Given the description of an element on the screen output the (x, y) to click on. 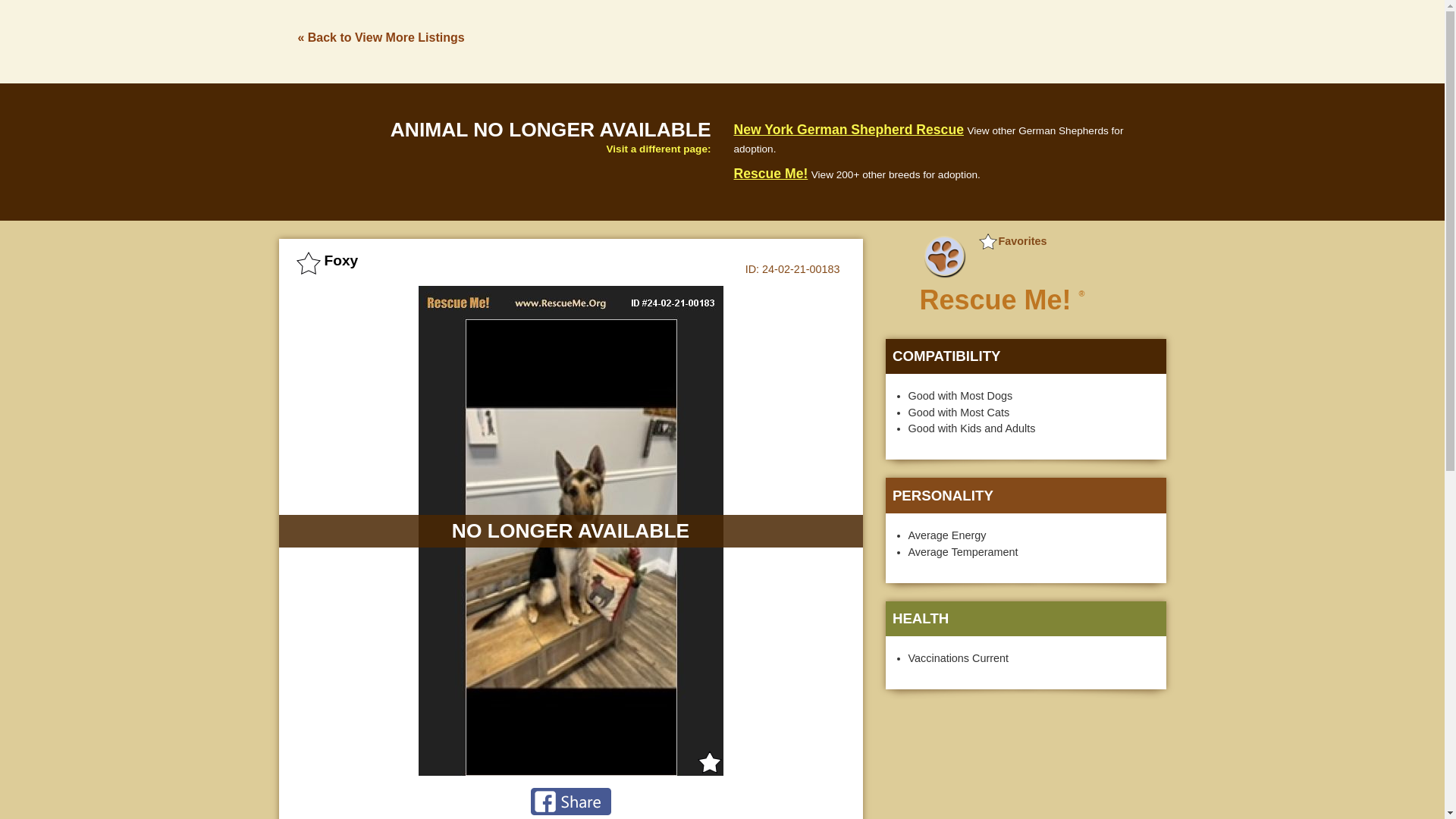
Favorites (1011, 241)
New York German Shepherd Rescue (848, 129)
Advertisement (1025, 763)
Advertisement (890, 39)
Rescue Me! (770, 173)
